Given the description of an element on the screen output the (x, y) to click on. 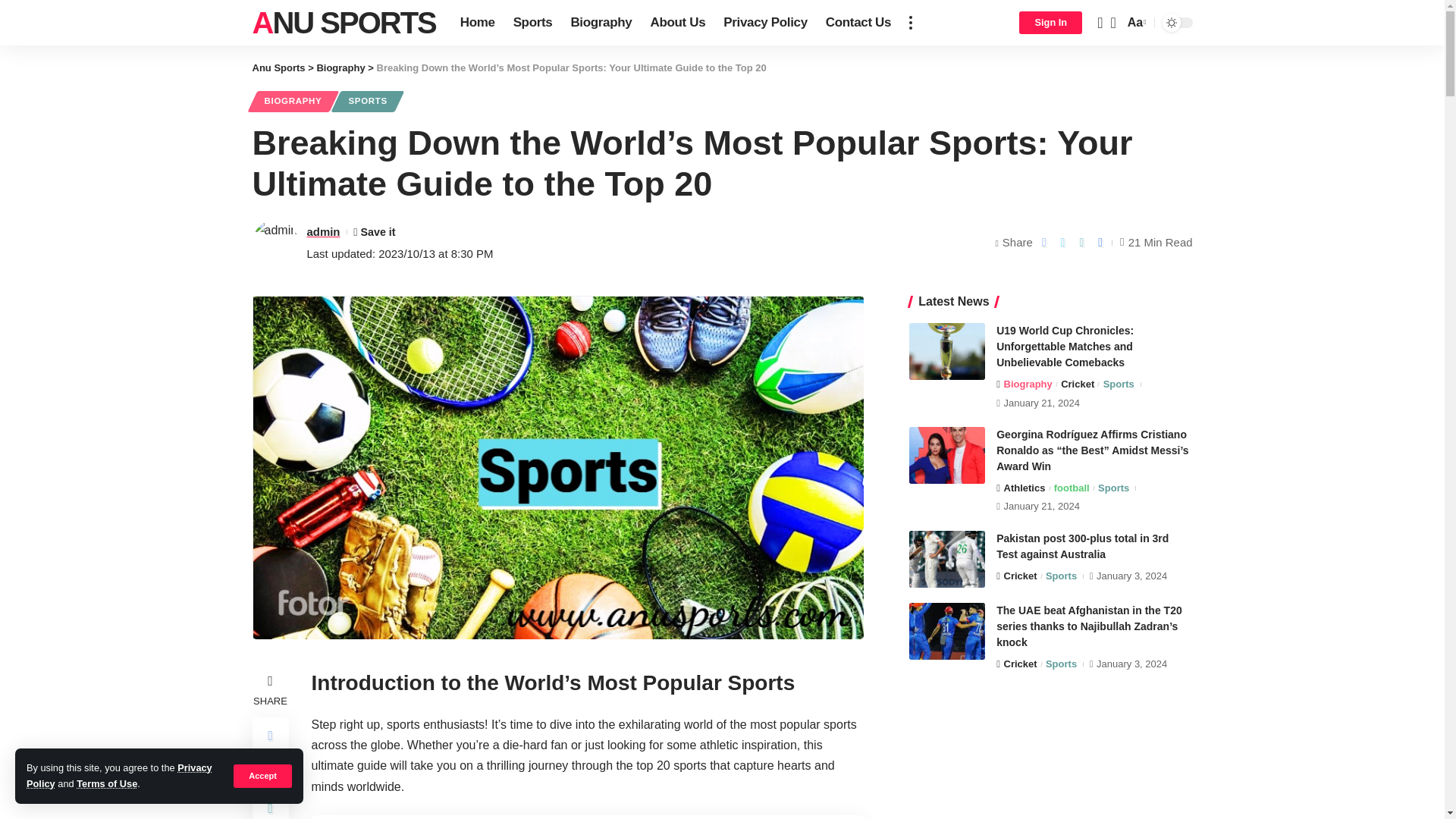
Accept (262, 775)
ANU SPORTS (343, 22)
Anu Sports (343, 22)
Privacy Policy (119, 775)
Pakistan post 300-plus total in 3rd Test against Australia (946, 559)
Go to the Biography Category archives. (340, 67)
Terms of Use (106, 783)
Home (477, 22)
Go to Anu Sports. (277, 67)
Biography (600, 22)
Sign In (1050, 22)
About Us (677, 22)
Contact Us (857, 22)
Aa (1135, 22)
